Given the description of an element on the screen output the (x, y) to click on. 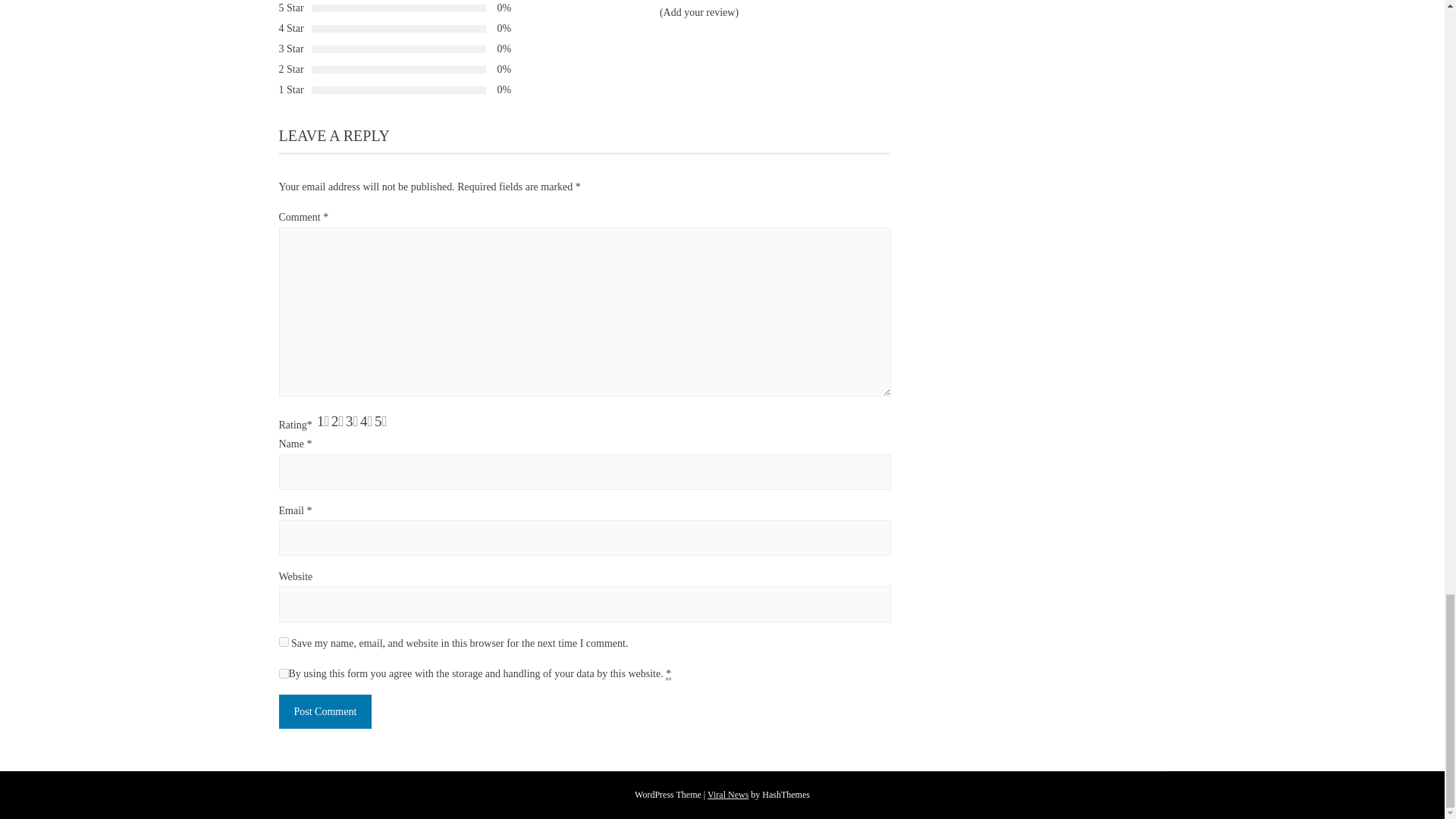
Download Viral News (727, 794)
Post Comment (325, 711)
yes (283, 642)
